Given the description of an element on the screen output the (x, y) to click on. 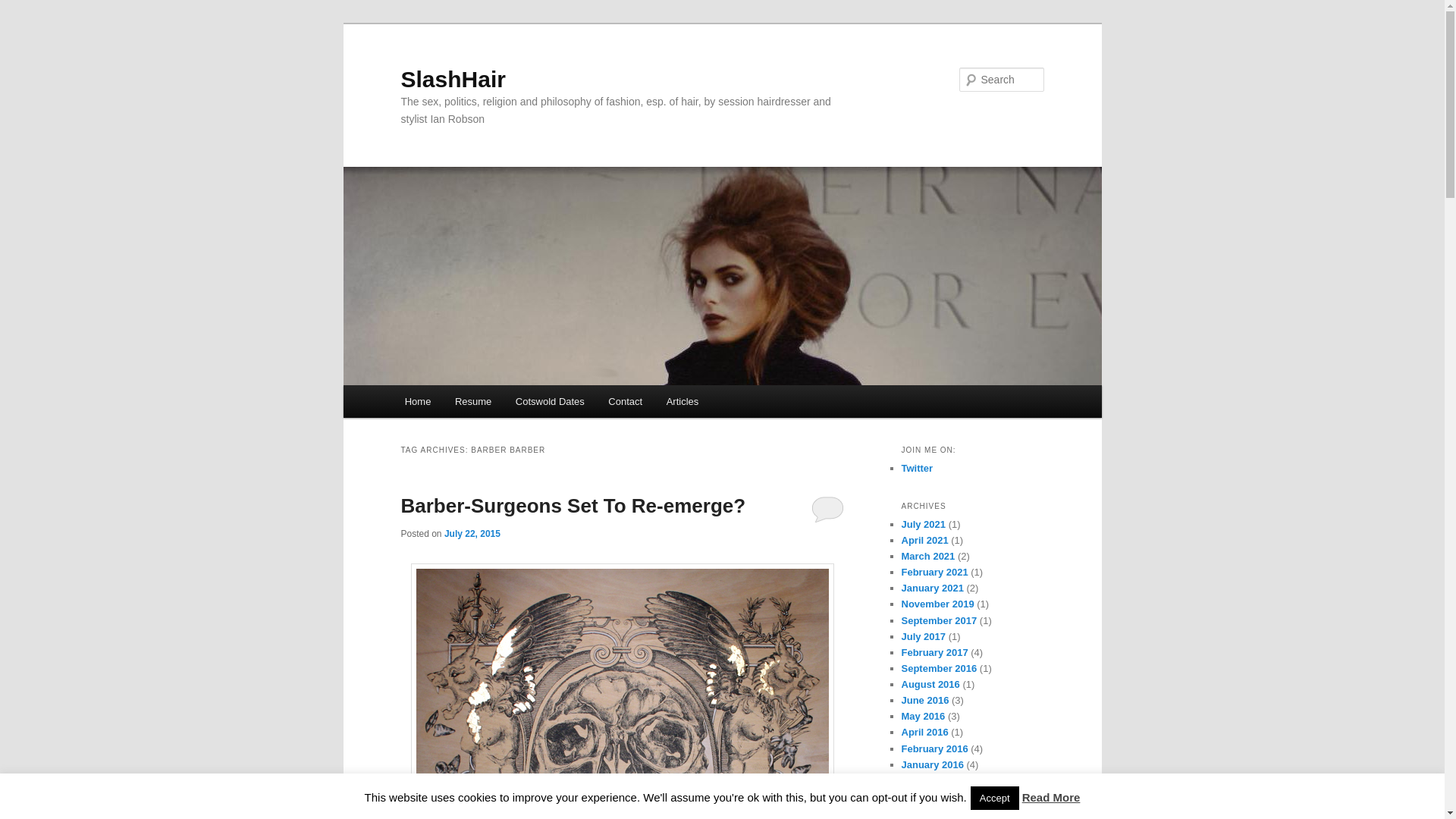
Cotswold Dates (549, 400)
July 22, 2015 (472, 533)
Search (24, 8)
Barber-Surgeons Set To Re-emerge? (572, 505)
September 2017 (938, 619)
Twitter (917, 468)
February 2021 (934, 572)
March 2021 (928, 555)
SlashHair (452, 78)
January 2021 (931, 587)
